Given the description of an element on the screen output the (x, y) to click on. 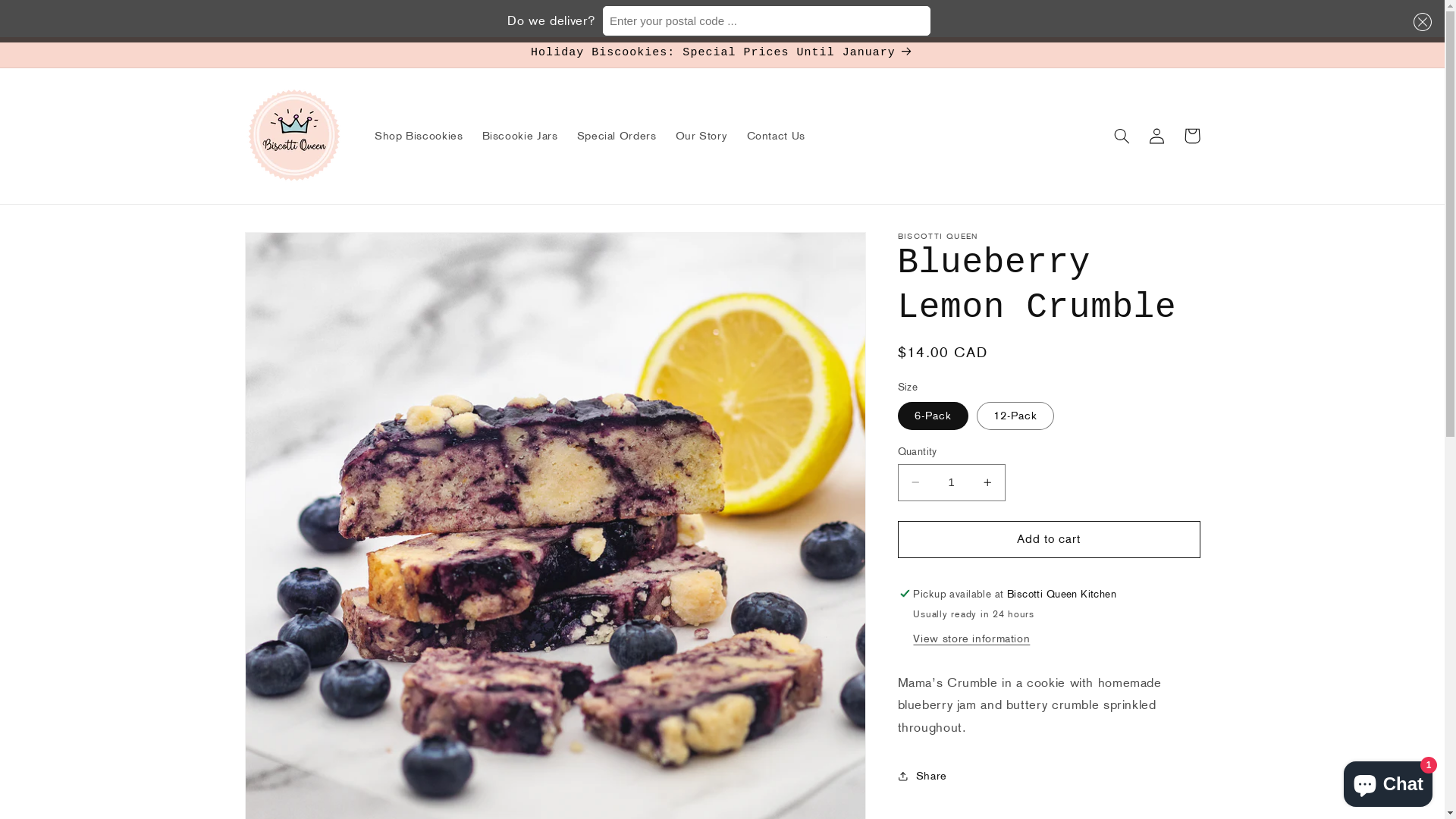
Shopify online store chat Element type: hover (1388, 780)
Contact Us Element type: text (776, 135)
Add to cart Element type: text (1048, 539)
Decrease quantity for Blueberry Lemon Crumble Element type: text (914, 482)
Log in Element type: text (1156, 135)
Special Orders Element type: text (616, 135)
Biscookie Jars Element type: text (519, 135)
Cart Element type: text (1191, 135)
Increase quantity for Blueberry Lemon Crumble Element type: text (987, 482)
Shop Biscookies Element type: text (418, 135)
Skip to product information Element type: text (292, 249)
View store information Element type: text (971, 638)
Our Story Element type: text (701, 135)
Holiday Biscookies: Special Prices Until January Element type: text (722, 52)
